Given the description of an element on the screen output the (x, y) to click on. 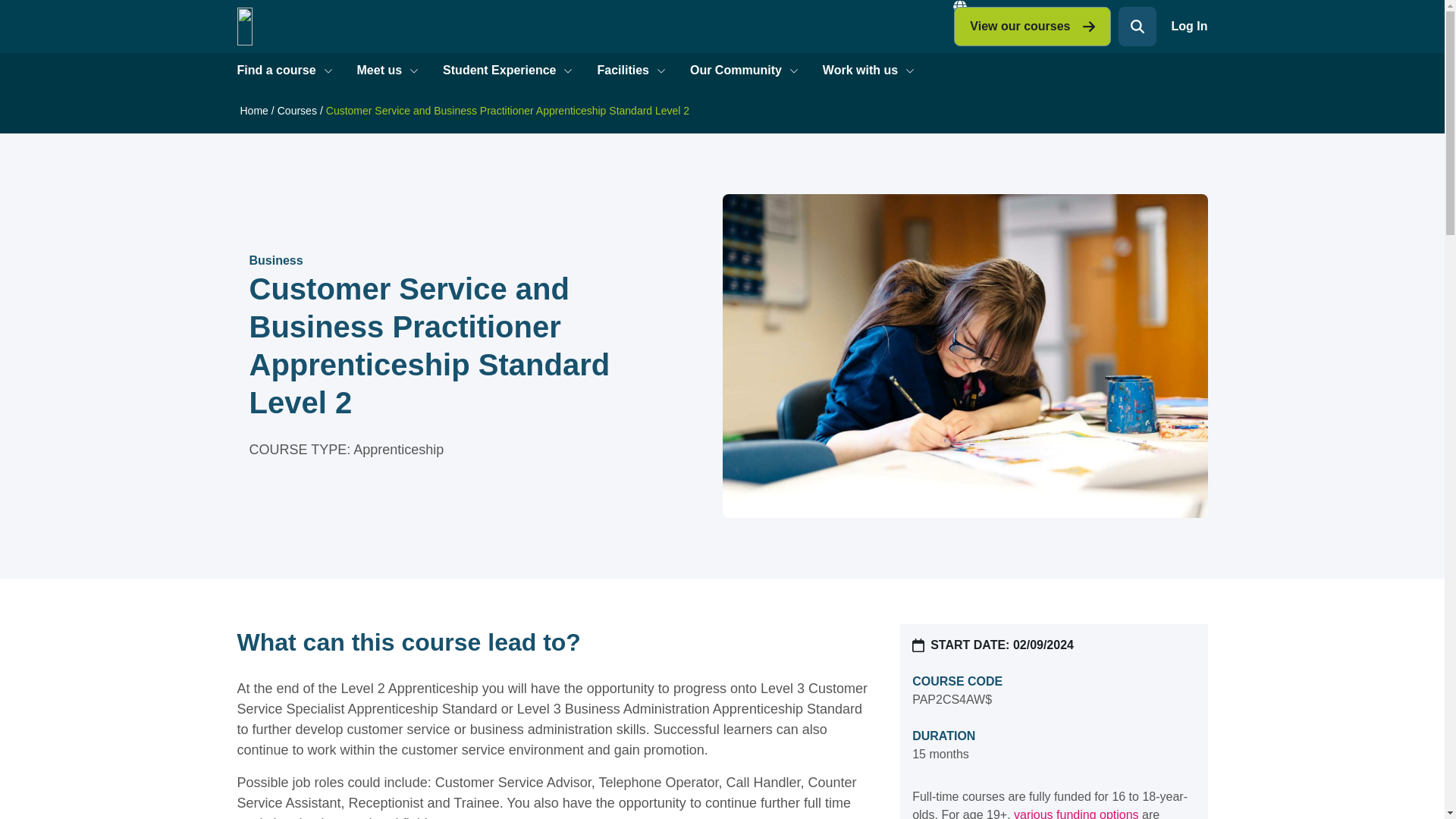
Home Link Logo (313, 26)
Log In (1188, 25)
Open search modal (1137, 25)
View our courses (1031, 25)
